Given the description of an element on the screen output the (x, y) to click on. 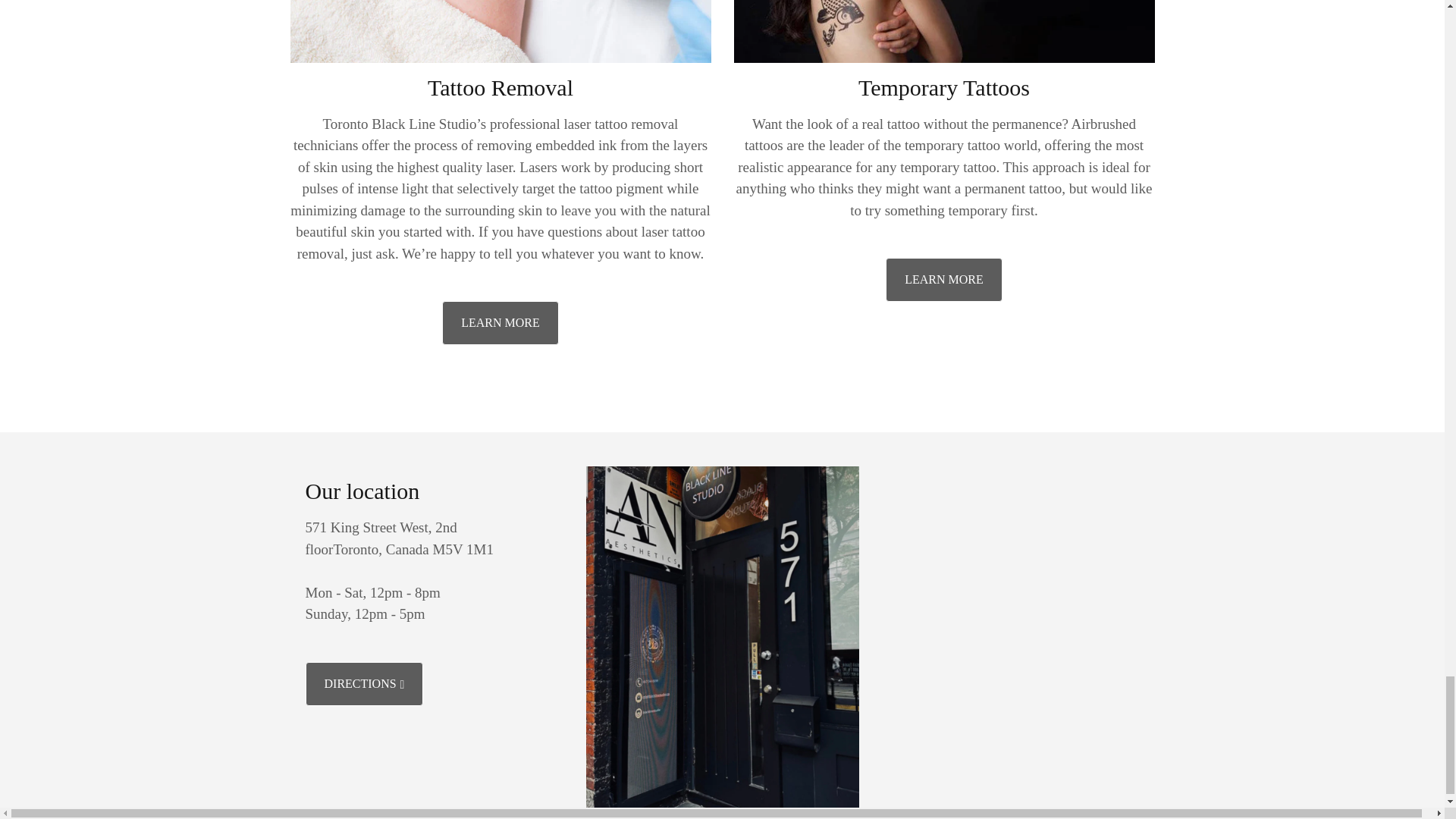
DIRECTIONS (363, 683)
LEARN MORE (944, 279)
LEARN MORE (500, 322)
